Given the description of an element on the screen output the (x, y) to click on. 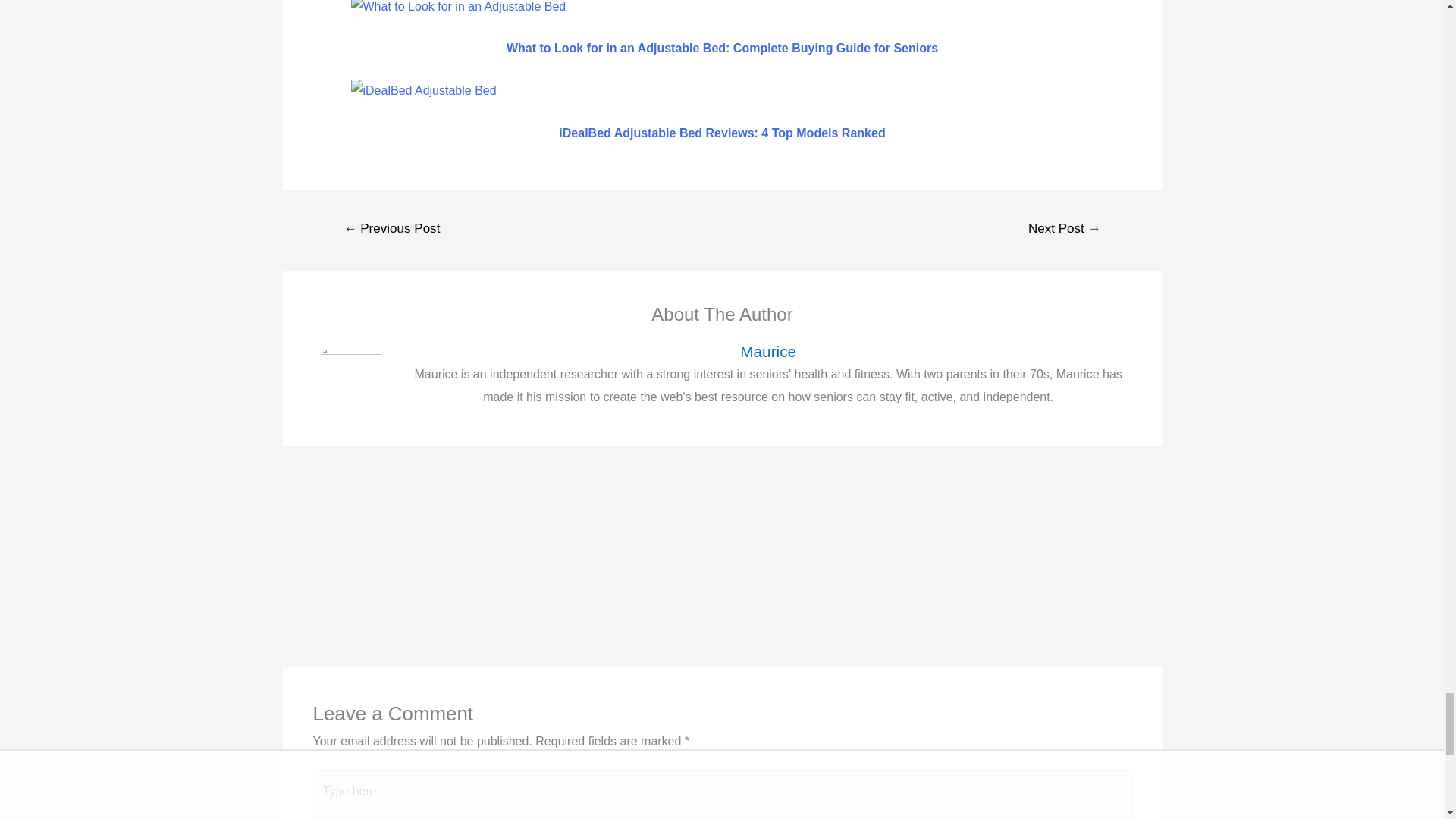
iDealBed Adjustable Bed Reviews: 4 Top Models Ranked (423, 90)
